Given the description of an element on the screen output the (x, y) to click on. 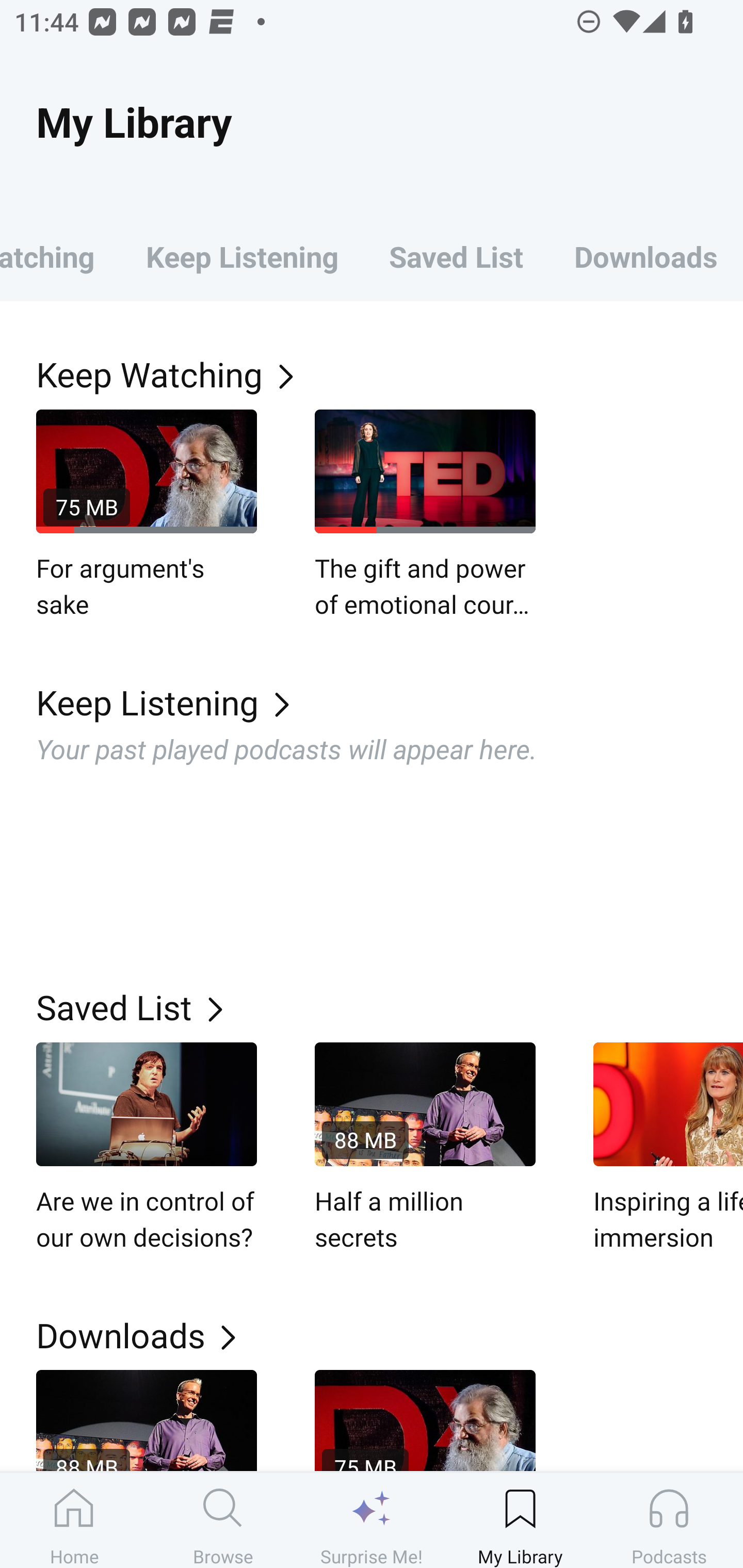
Keep Watching (60, 256)
Keep Listening (242, 256)
Saved List (456, 256)
Downloads (646, 256)
Keep Watching (389, 373)
75 MB For argument's sake (146, 514)
The gift and power of emotional courage (425, 514)
Keep Listening (389, 702)
Saved List (389, 1007)
Are we in control of our own decisions? (146, 1148)
88 MB Half a million secrets (425, 1148)
Inspiring a life of immersion (668, 1148)
Downloads (389, 1334)
88 MB (146, 1420)
75 MB (425, 1420)
Home (74, 1520)
Browse (222, 1520)
Surprise Me! (371, 1520)
My Library (519, 1520)
Podcasts (668, 1520)
